Given the description of an element on the screen output the (x, y) to click on. 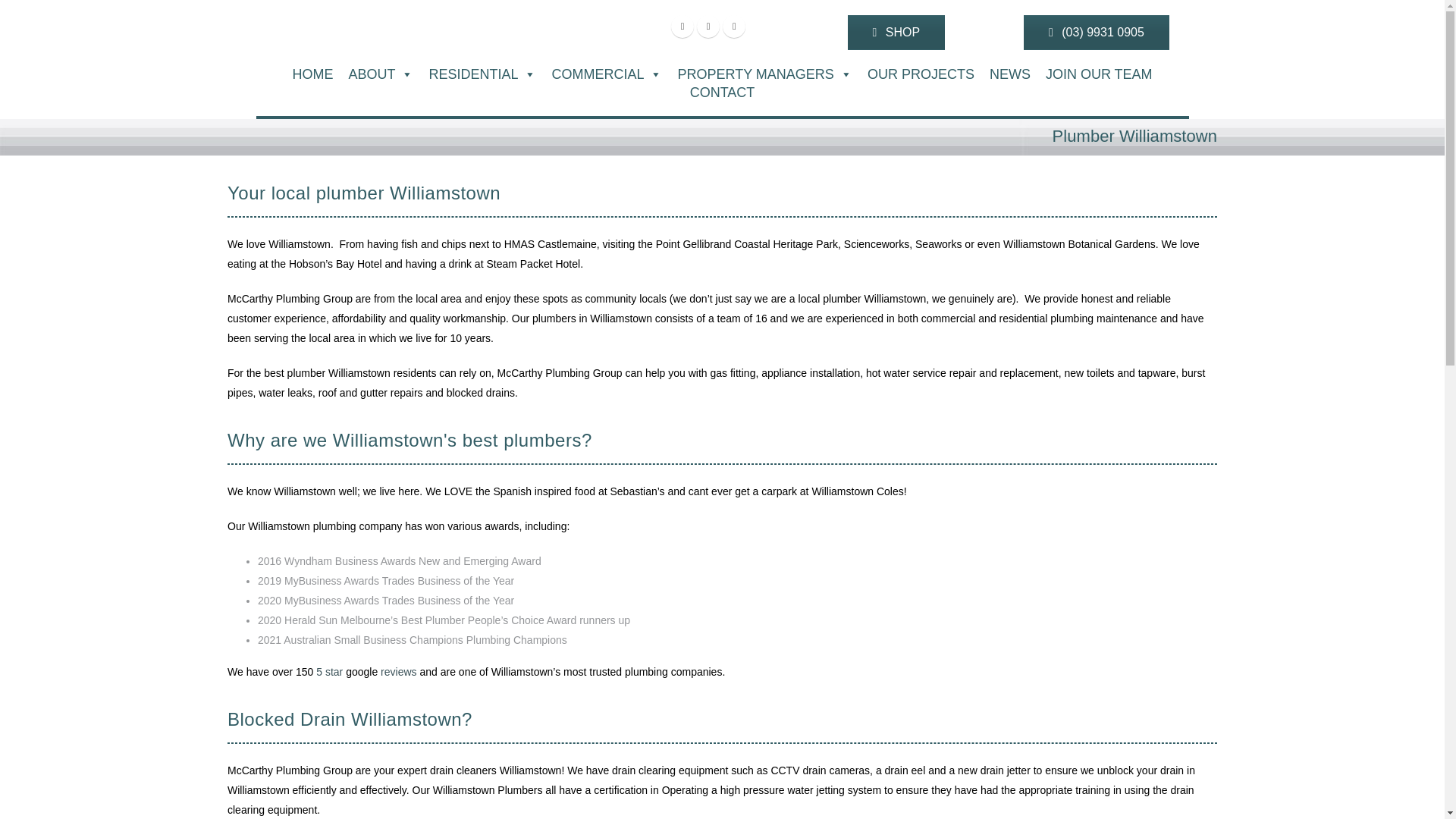
PROPERTY MANAGERS (764, 74)
COMMERCIAL (606, 74)
HOME (311, 74)
SHOP (895, 32)
OUR PROJECTS (920, 74)
RESIDENTIAL (481, 74)
NEWS (1009, 74)
JOIN OUR TEAM (1099, 74)
Youtube (708, 26)
CONTACT (722, 92)
ABOUT (380, 74)
SHOP (895, 32)
Facebook (682, 26)
McCarthy Plumbing Group -  (343, 9)
Instagram (733, 26)
